Given the description of an element on the screen output the (x, y) to click on. 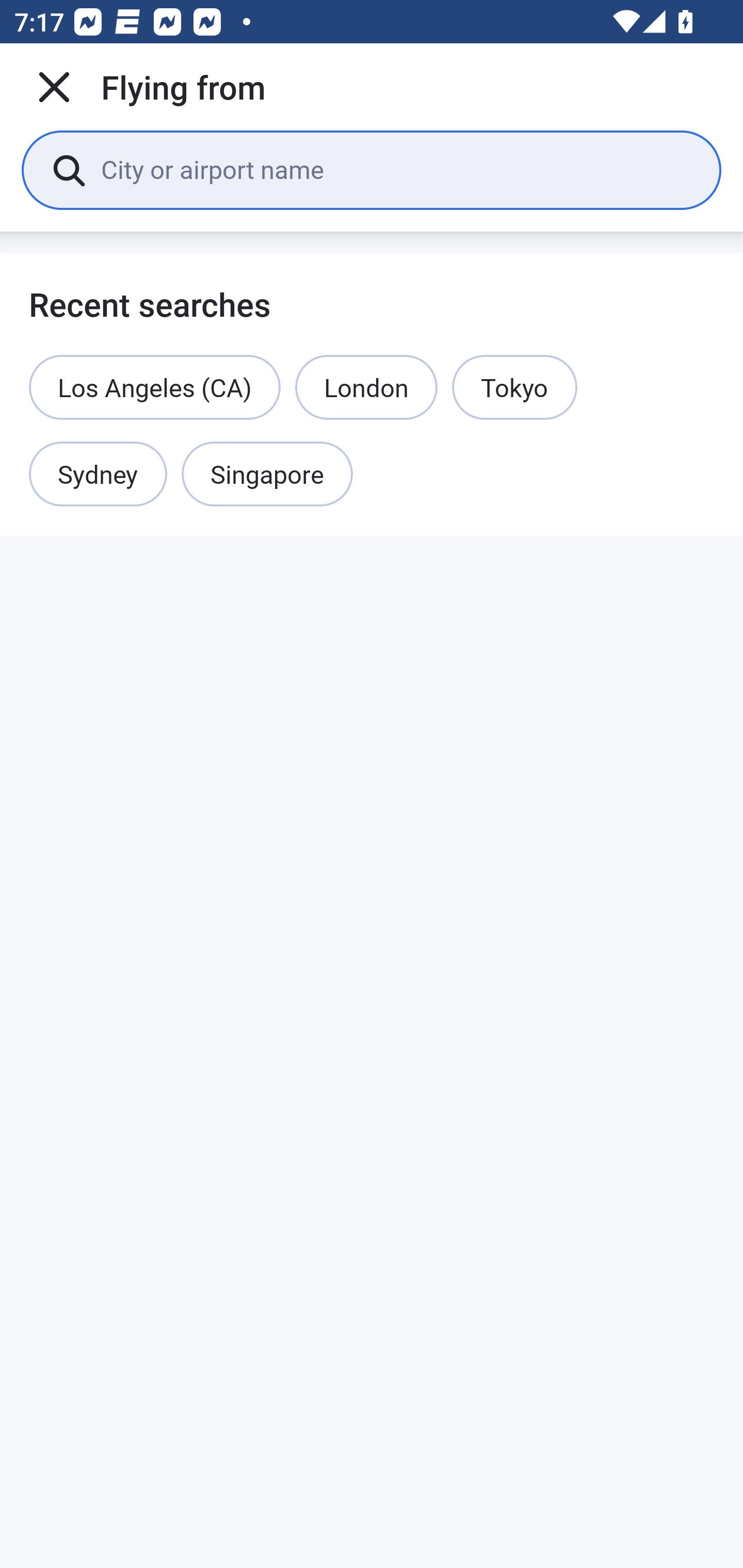
City or airport name (396, 169)
Los Angeles (CA) (154, 387)
London (365, 387)
Tokyo (514, 387)
Sydney (97, 474)
Singapore (266, 474)
